Given the description of an element on the screen output the (x, y) to click on. 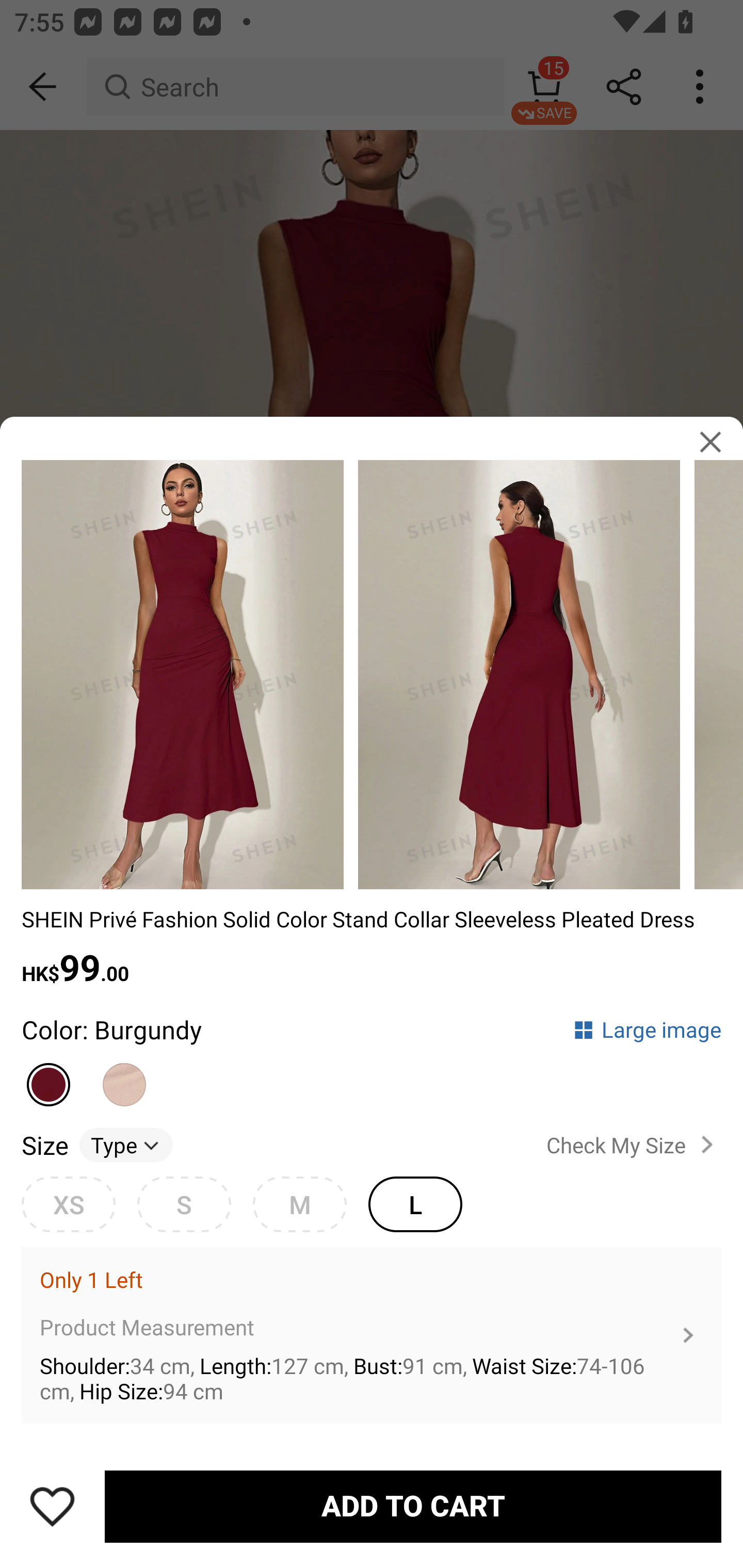
Color: Burgundy (111, 1028)
Large image (646, 1028)
Burgundy (48, 1076)
Apricot (124, 1076)
Size (44, 1144)
Type (126, 1144)
Check My Size (633, 1144)
XS (68, 1204)
S (184, 1204)
M (299, 1204)
L Lselected option (415, 1204)
ADD TO CART (412, 1506)
Save (52, 1505)
